Given the description of an element on the screen output the (x, y) to click on. 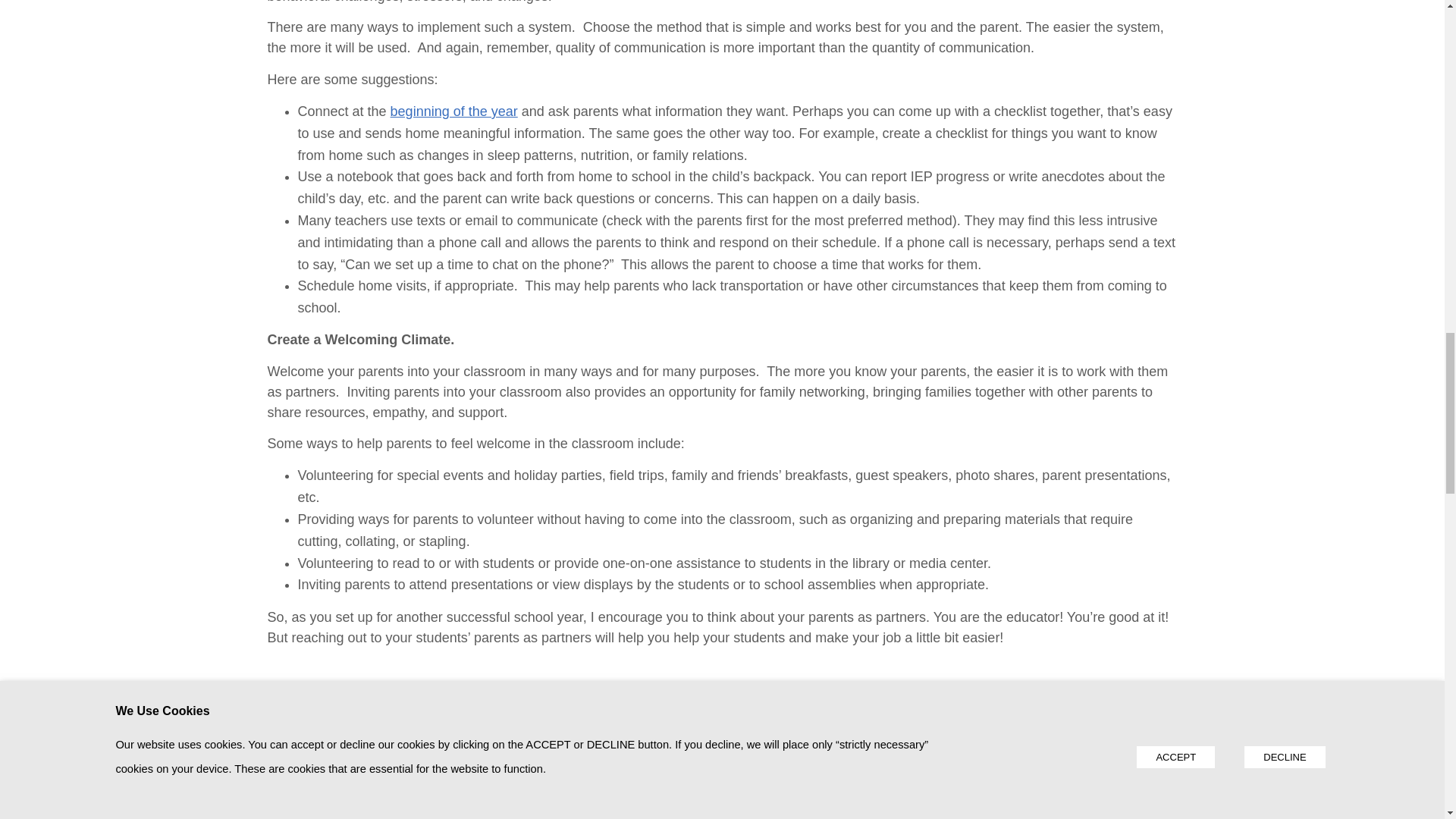
beginning of the year (454, 111)
